Given the description of an element on the screen output the (x, y) to click on. 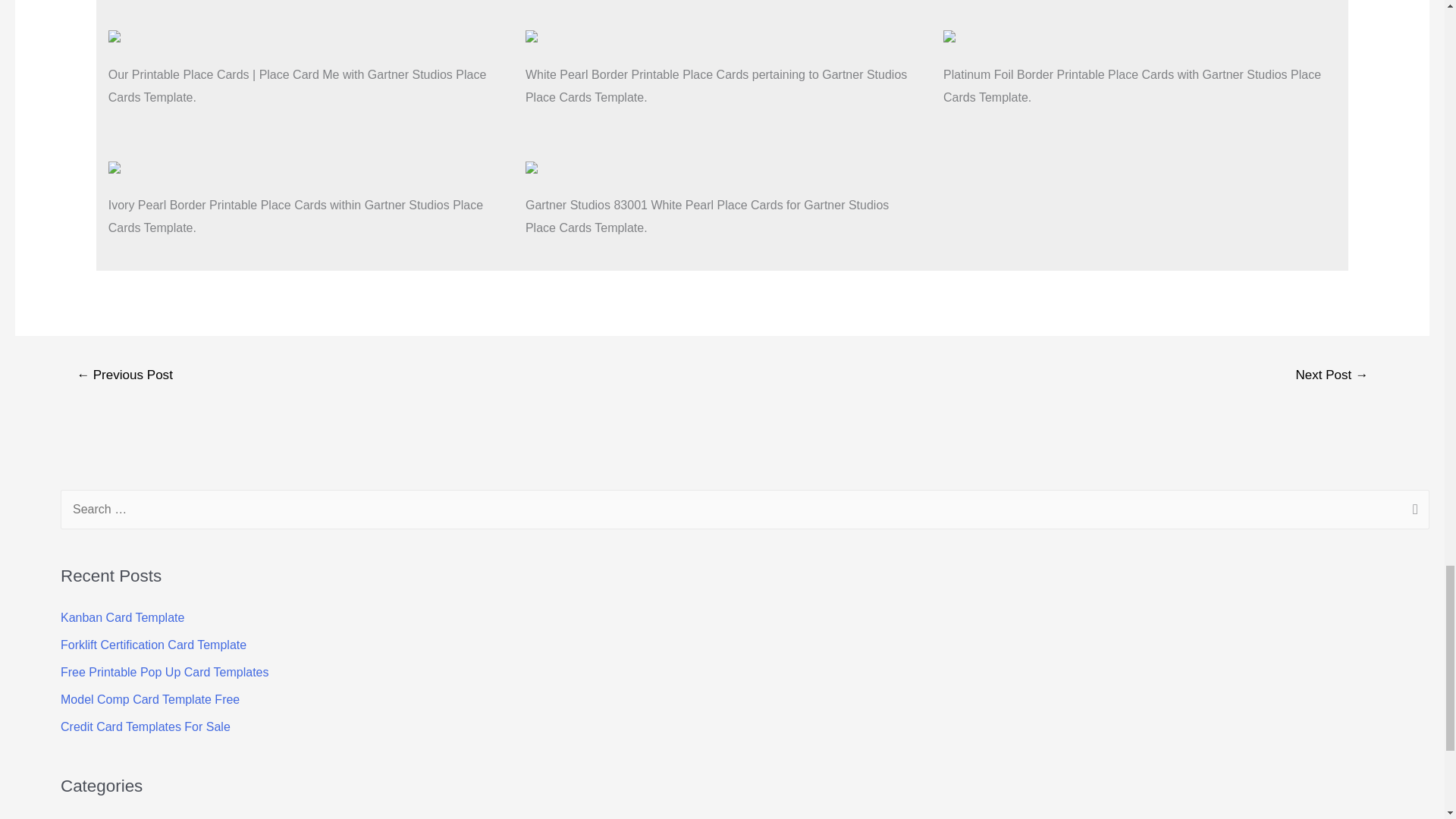
Credit Card Templates For Sale (145, 726)
Forklift Certification Card Template (153, 644)
Model Comp Card Template Free (150, 698)
Free Printable Pop Up Card Templates (165, 671)
Kanban Card Template (122, 617)
